Given the description of an element on the screen output the (x, y) to click on. 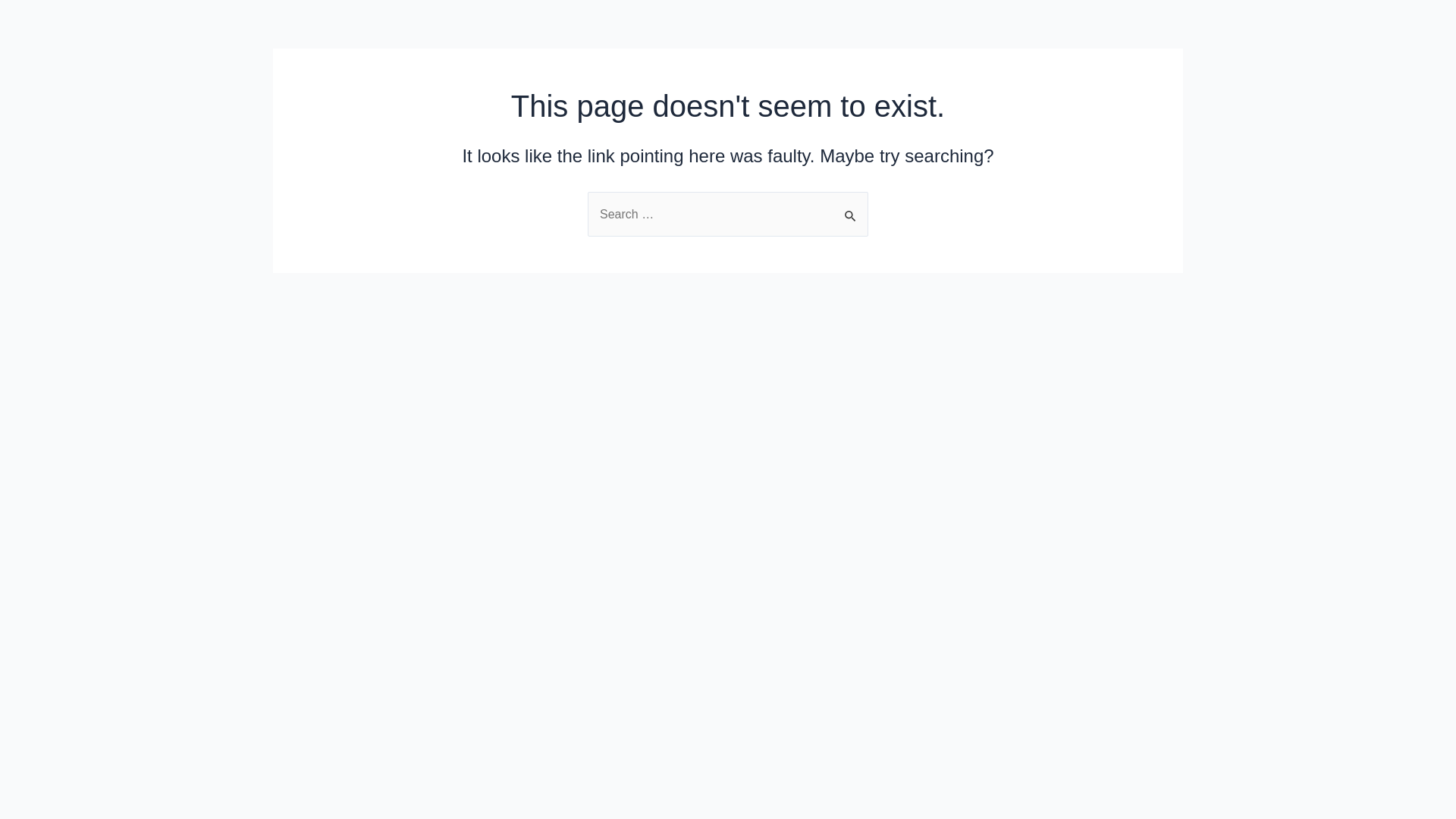
Search Element type: text (851, 207)
